Given the description of an element on the screen output the (x, y) to click on. 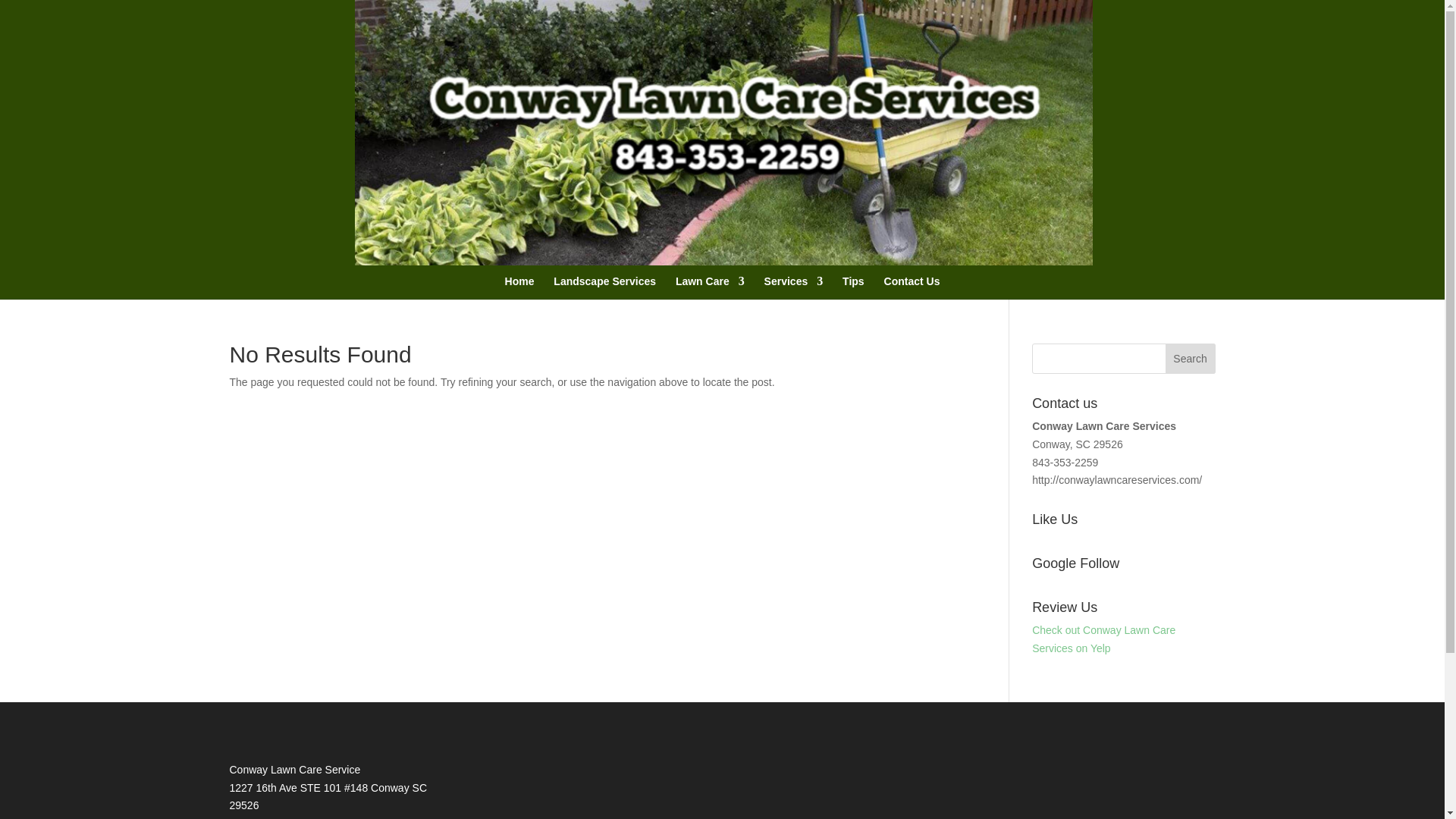
Lawn Care (709, 301)
Home (519, 301)
Contact Us (911, 301)
Search (1190, 358)
Check out Conway Lawn Care Services on Yelp (1103, 639)
Tips (853, 301)
Search (1190, 358)
Services (794, 301)
Landscape Services (604, 301)
